Given the description of an element on the screen output the (x, y) to click on. 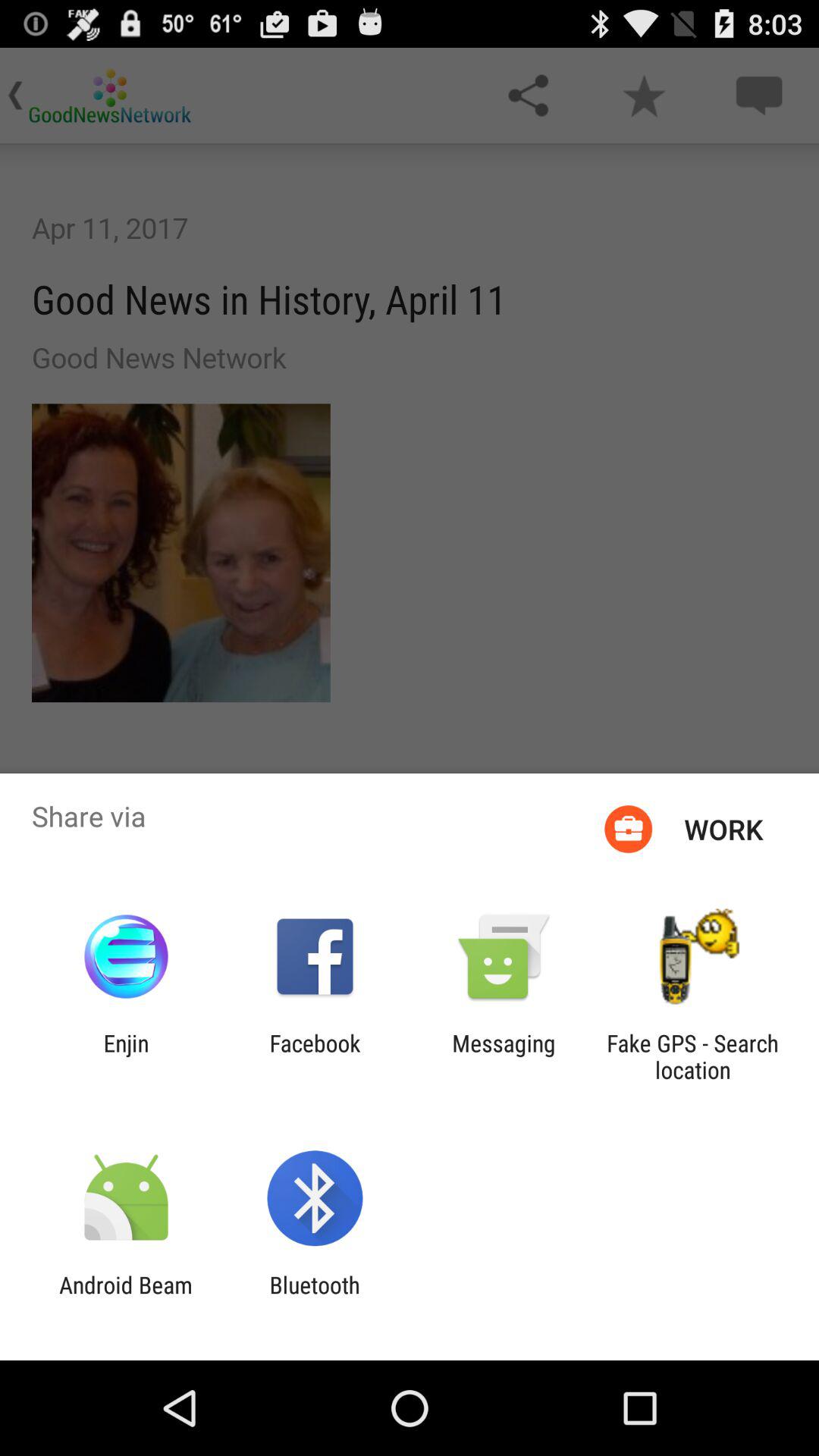
choose item next to the bluetooth (125, 1298)
